Given the description of an element on the screen output the (x, y) to click on. 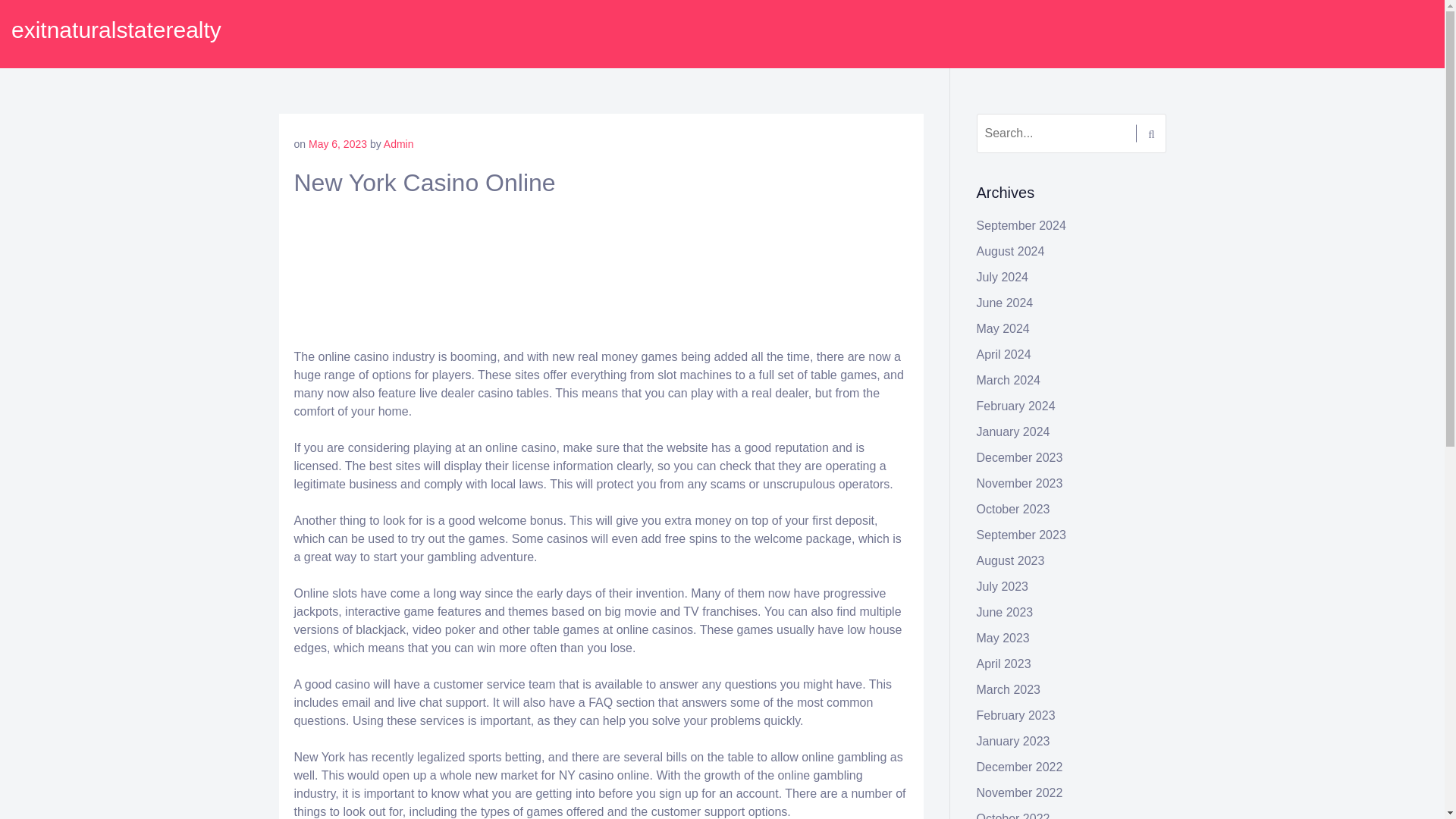
March 2024 (1008, 379)
July 2023 (1002, 585)
exitnaturalstaterealty (116, 29)
July 2024 (1002, 277)
April 2023 (1003, 663)
November 2022 (1019, 792)
December 2023 (1019, 457)
May 2024 (1002, 328)
April 2024 (1003, 354)
June 2023 (1004, 612)
